Given the description of an element on the screen output the (x, y) to click on. 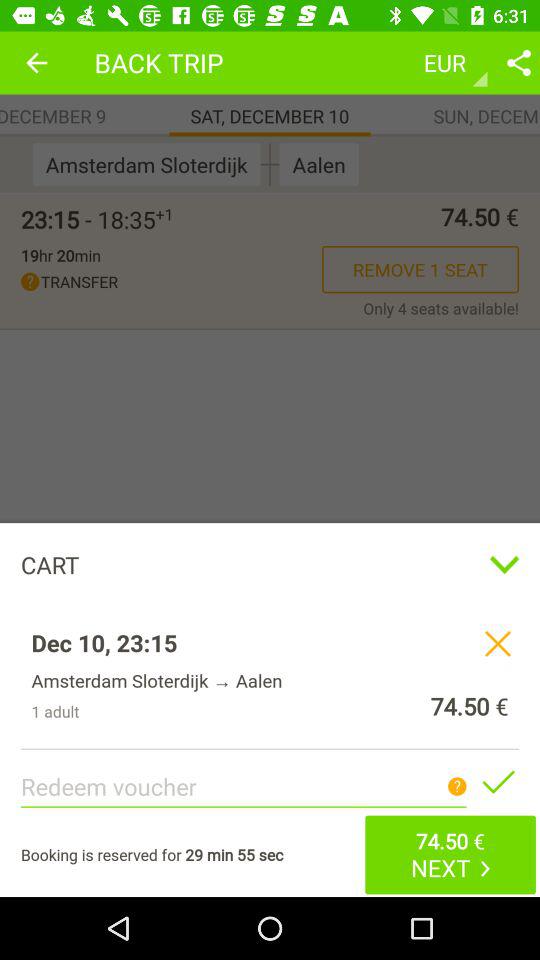
choose the item above booking is reserved icon (270, 453)
